Given the description of an element on the screen output the (x, y) to click on. 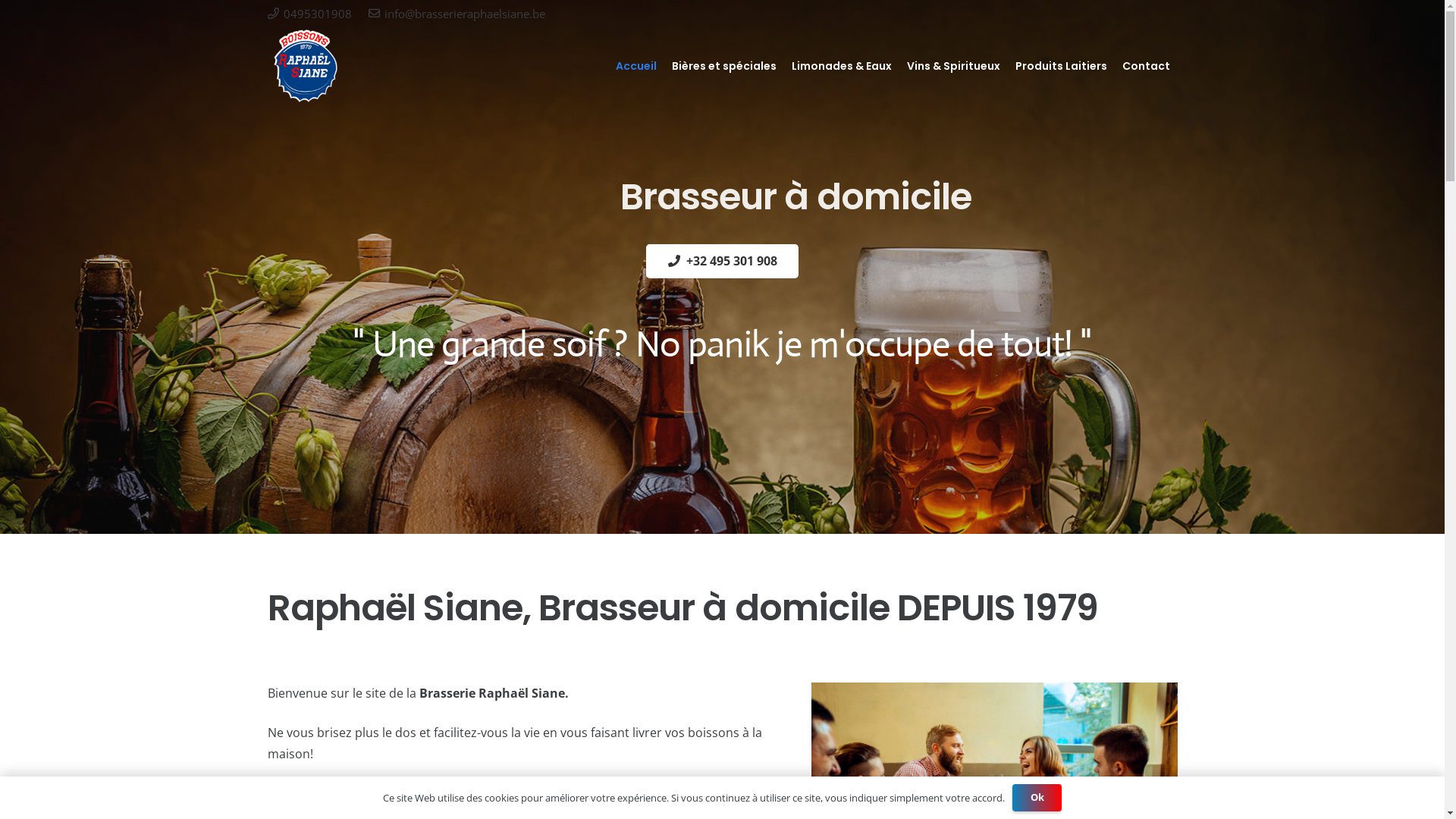
Ok Element type: text (1036, 797)
0495301908 Element type: text (308, 13)
Vins & Spiritueux Element type: text (953, 65)
Accueil Element type: text (636, 65)
+32 495 301 908 Element type: text (722, 261)
Produits Laitiers Element type: text (1060, 65)
info@brasserieraphaelsiane.be Element type: text (456, 13)
Contact Element type: text (1145, 65)
Limonades & Eaux Element type: text (841, 65)
